Given the description of an element on the screen output the (x, y) to click on. 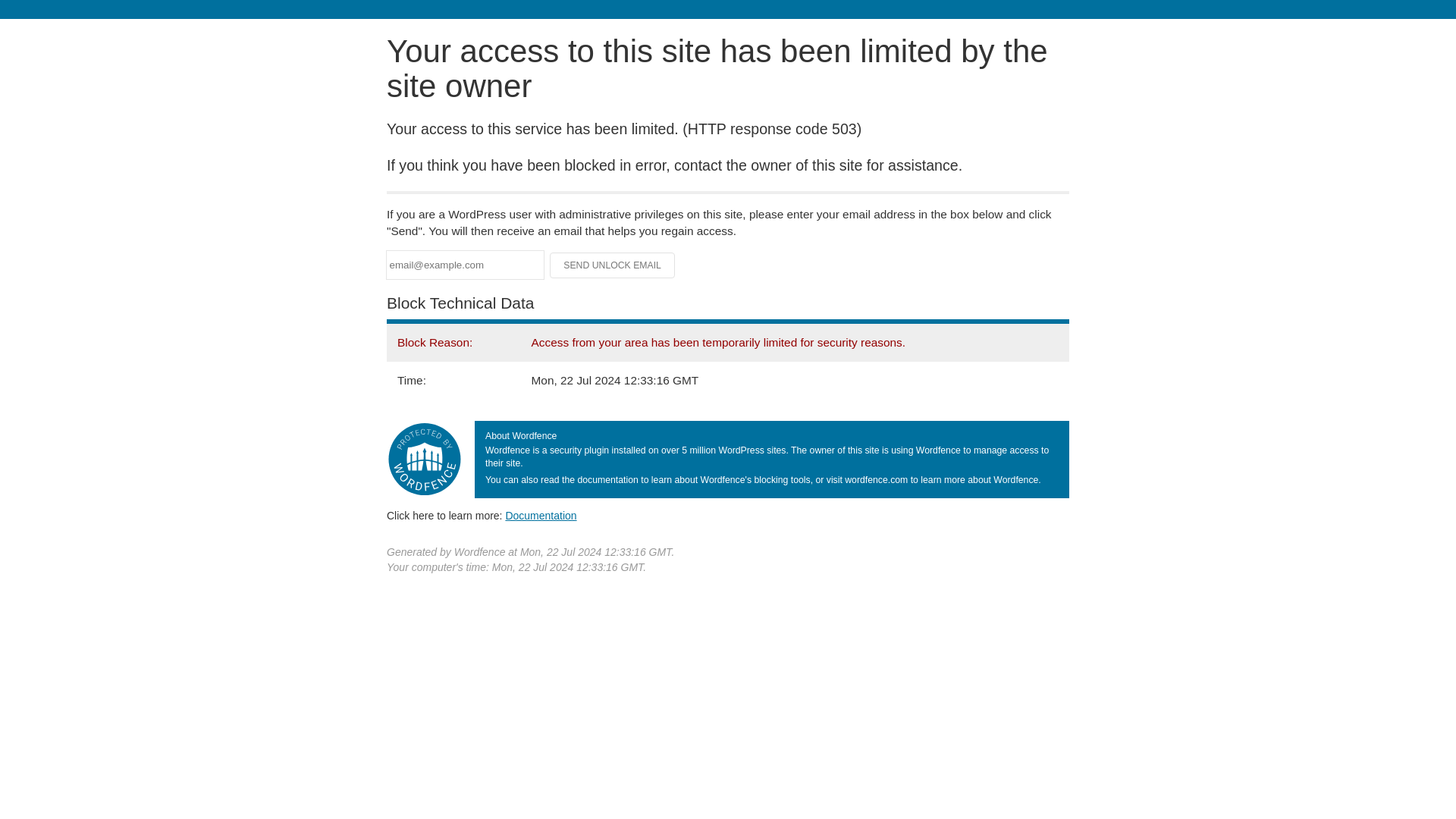
Documentation (540, 515)
Send Unlock Email (612, 265)
Send Unlock Email (612, 265)
